Given the description of an element on the screen output the (x, y) to click on. 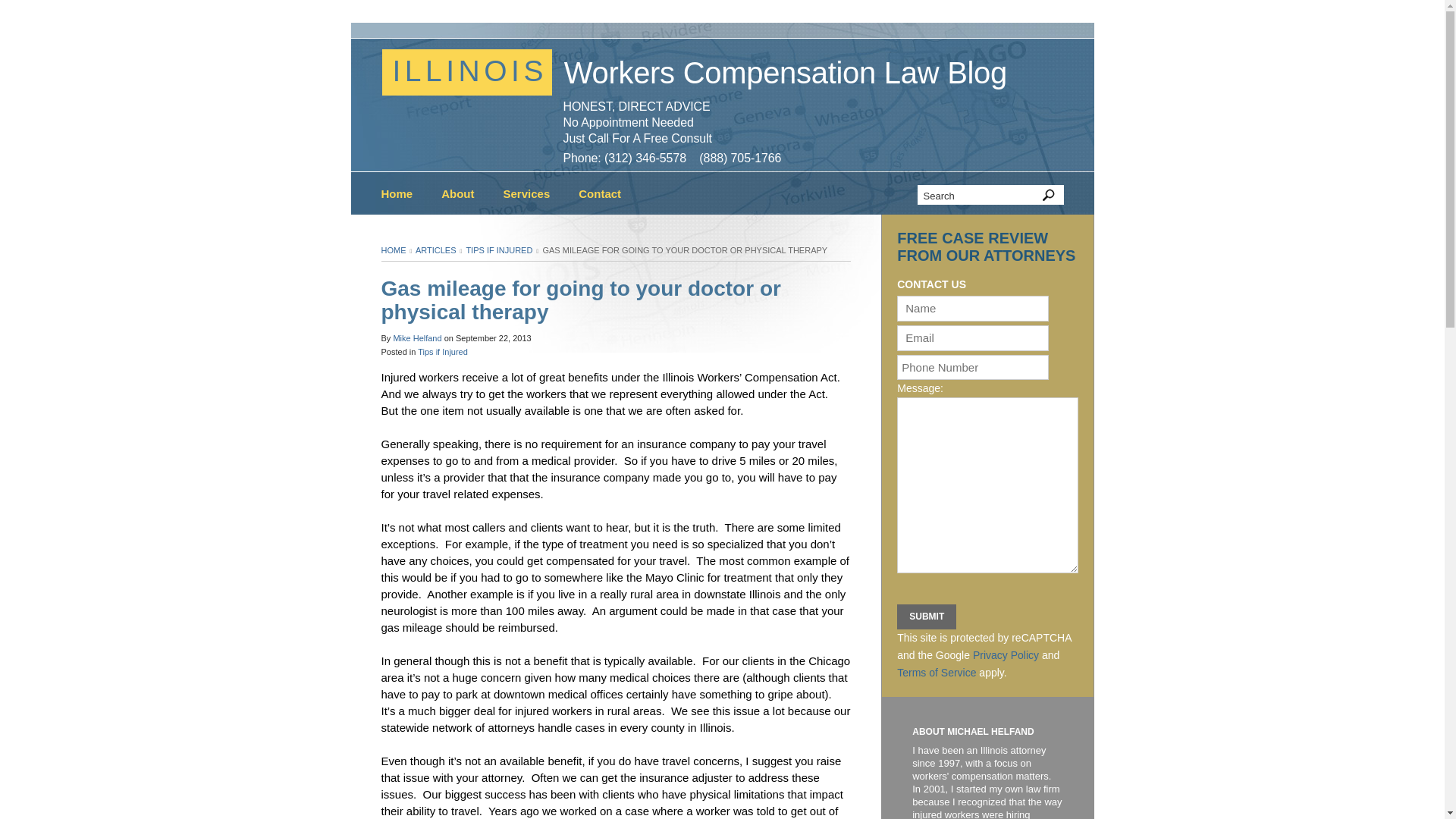
Go (1047, 194)
Home (403, 193)
ILLINOIS Workers Compensation Law Blog (734, 75)
ARTICLES (435, 249)
HOME (393, 249)
Go (1047, 194)
SUBMIT (926, 616)
Privacy Policy (1005, 654)
SUBMIT (926, 616)
Go (1047, 194)
